Given the description of an element on the screen output the (x, y) to click on. 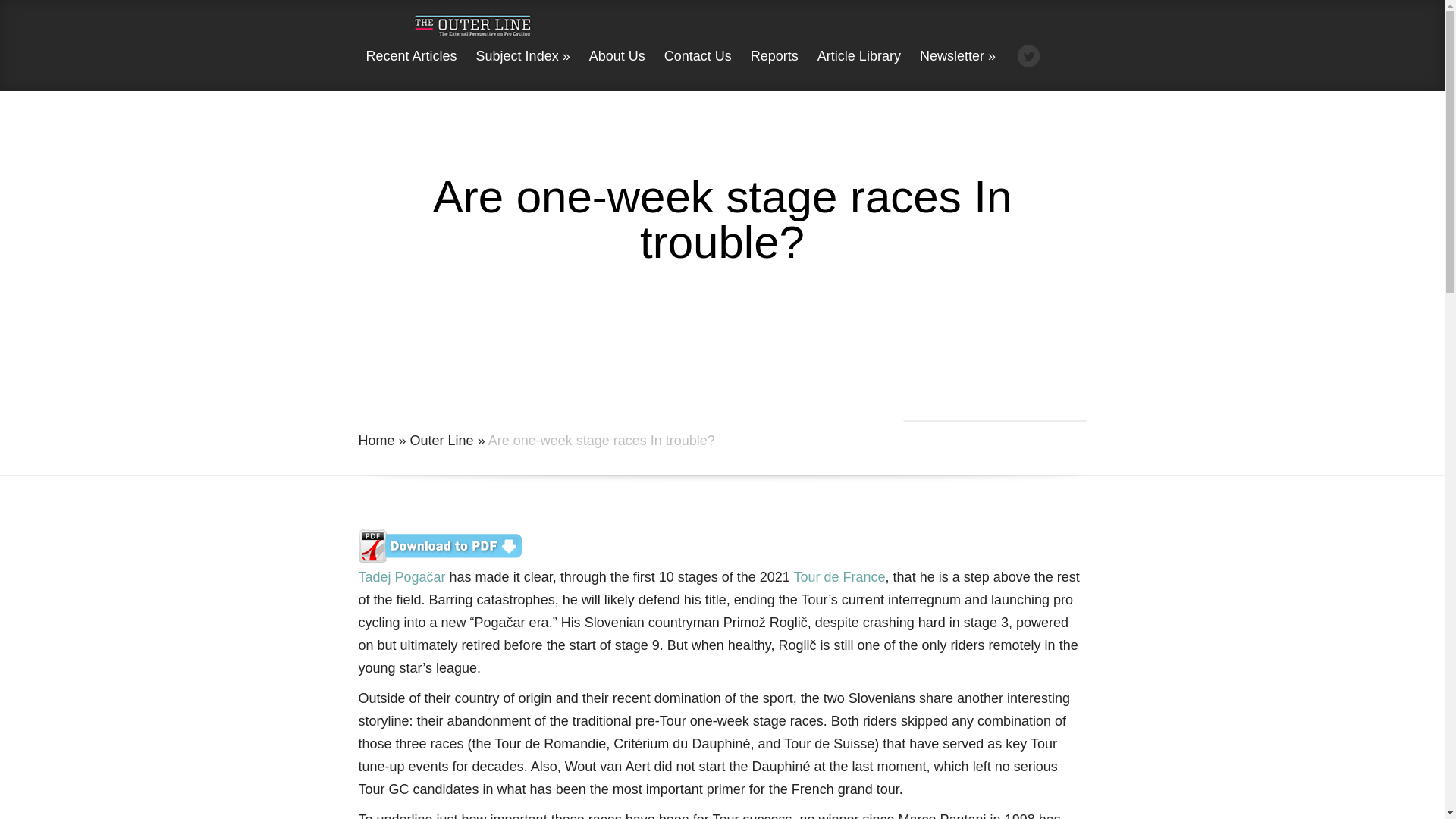
About Us (616, 69)
Newsletter (957, 69)
Contact Us (697, 69)
Subject Index (523, 69)
Reports (774, 69)
Download PDF (439, 558)
Article Library (858, 69)
Recent Articles (411, 69)
